Given the description of an element on the screen output the (x, y) to click on. 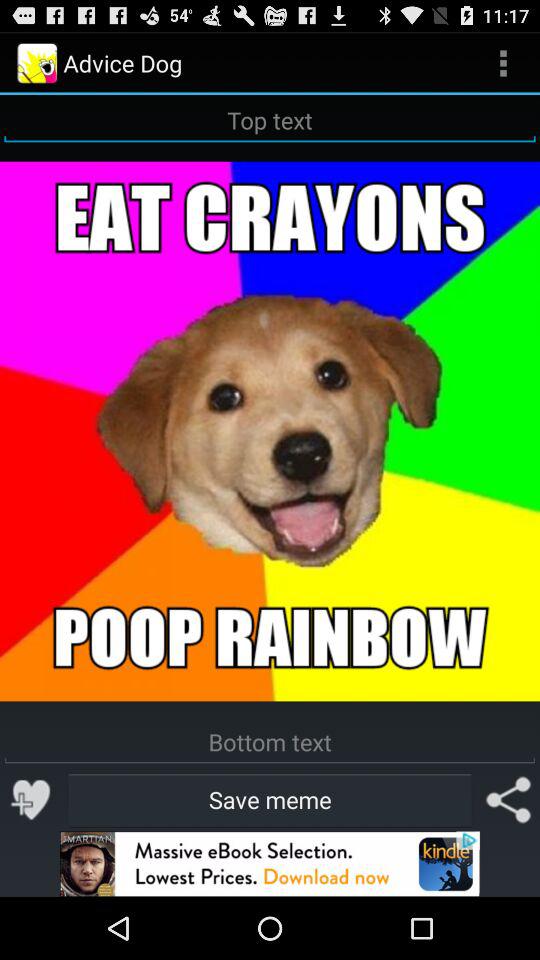
down text (270, 742)
